Given the description of an element on the screen output the (x, y) to click on. 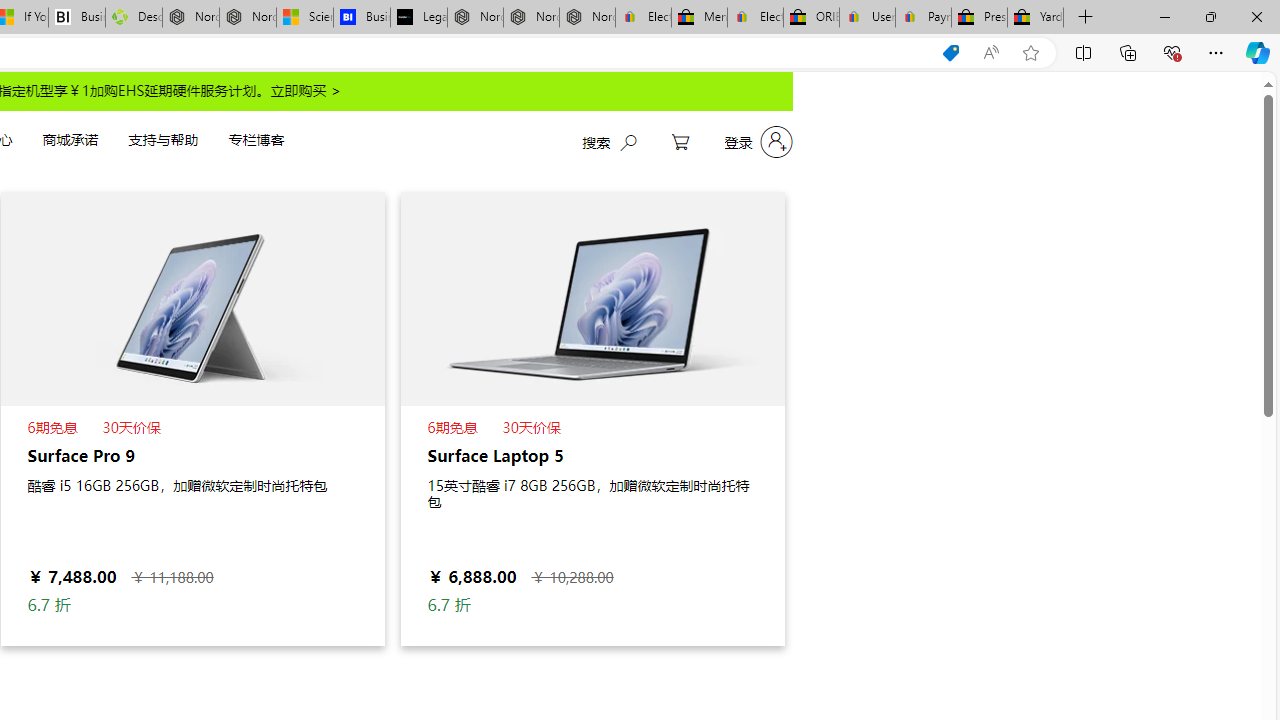
Payments Terms of Use | eBay.com (923, 17)
Nordace - Summer Adventures 2024 (190, 17)
Surface Pro 9 (192, 298)
Surface Laptop 5 (591, 298)
Split screen (1083, 52)
Collections (1128, 52)
Add this page to favorites (Ctrl+D) (1030, 53)
Descarga Driver Updater (134, 17)
